Given the description of an element on the screen output the (x, y) to click on. 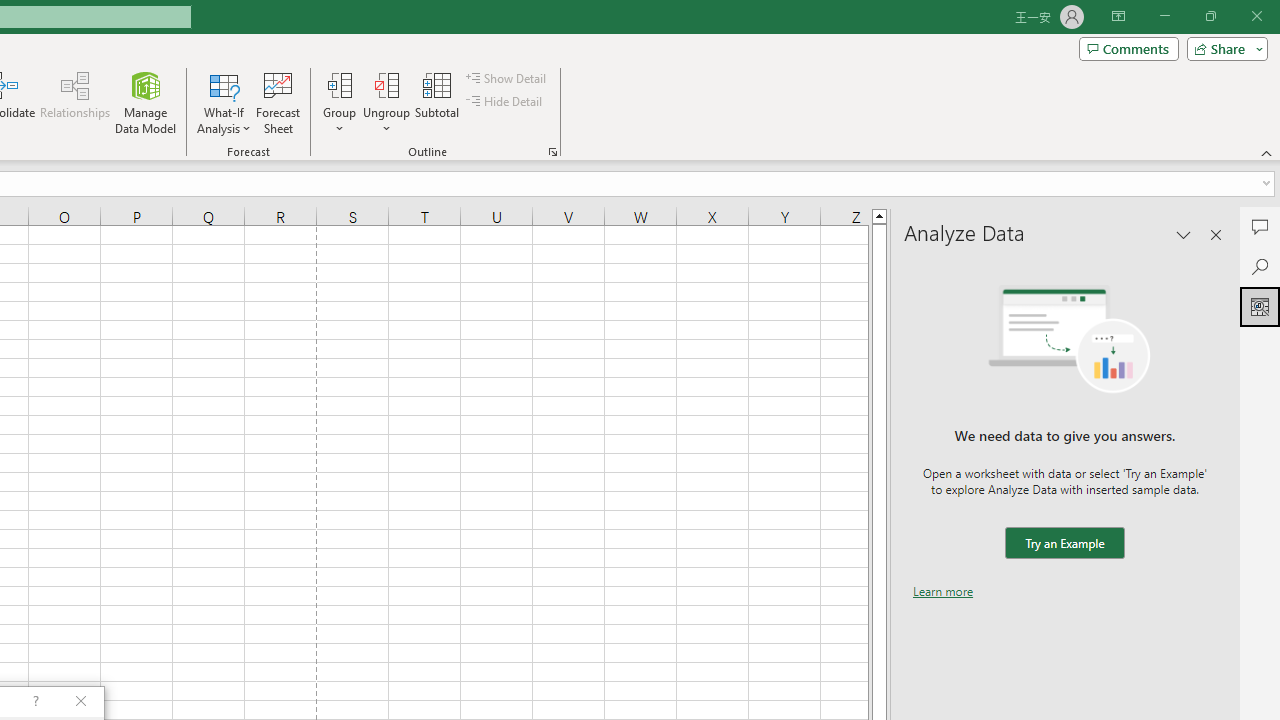
What-If Analysis (223, 102)
Hide Detail (505, 101)
Analyze Data (1260, 306)
We need data to give you answers. Try an Example (1064, 543)
Task Pane Options (1183, 234)
Forecast Sheet (278, 102)
Search (1260, 266)
